Given the description of an element on the screen output the (x, y) to click on. 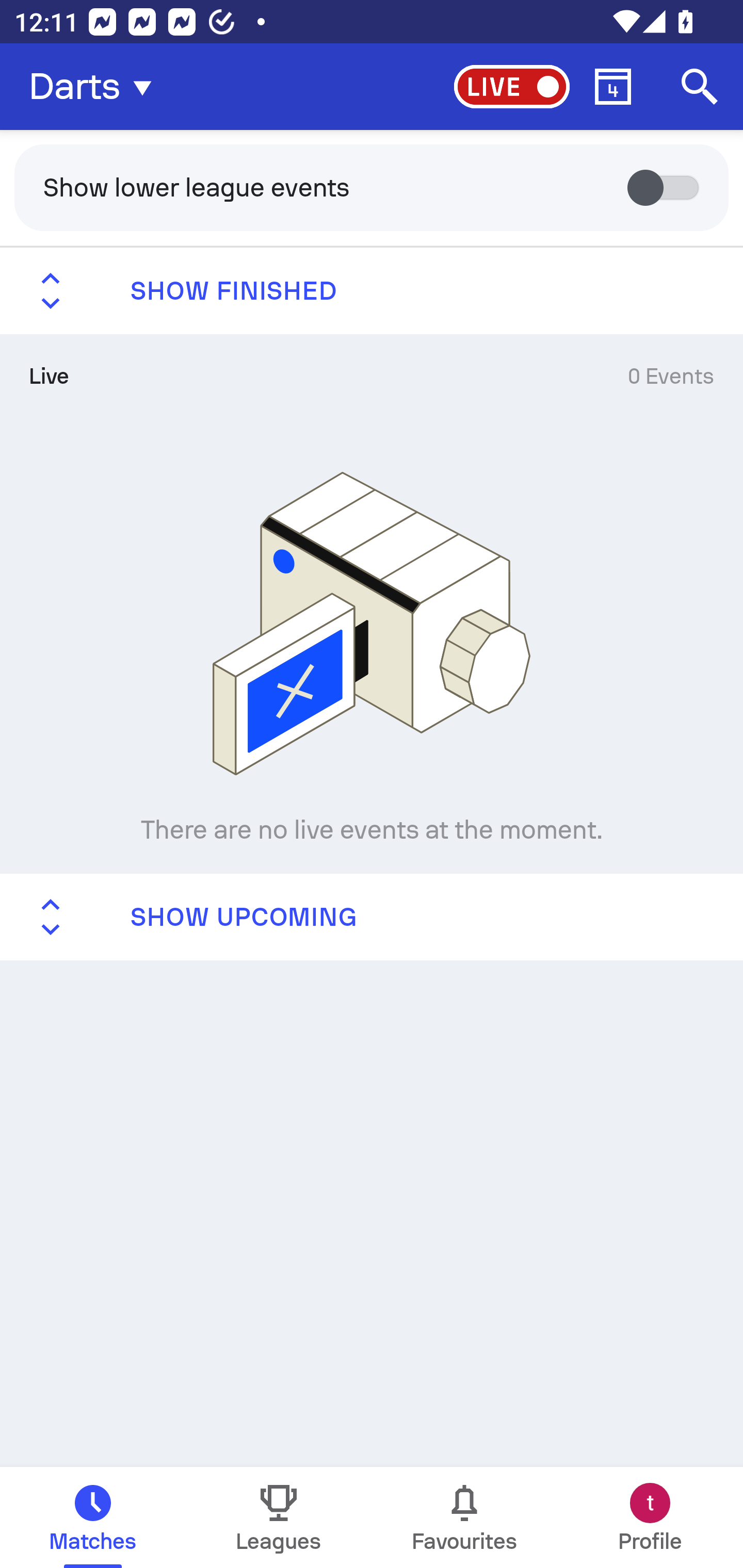
Darts (96, 86)
Calendar (612, 86)
Search (699, 86)
Show lower league events (371, 187)
SHOW FINISHED (371, 290)
SHOW UPCOMING (371, 916)
Leagues (278, 1517)
Favourites (464, 1517)
Profile (650, 1517)
